Given the description of an element on the screen output the (x, y) to click on. 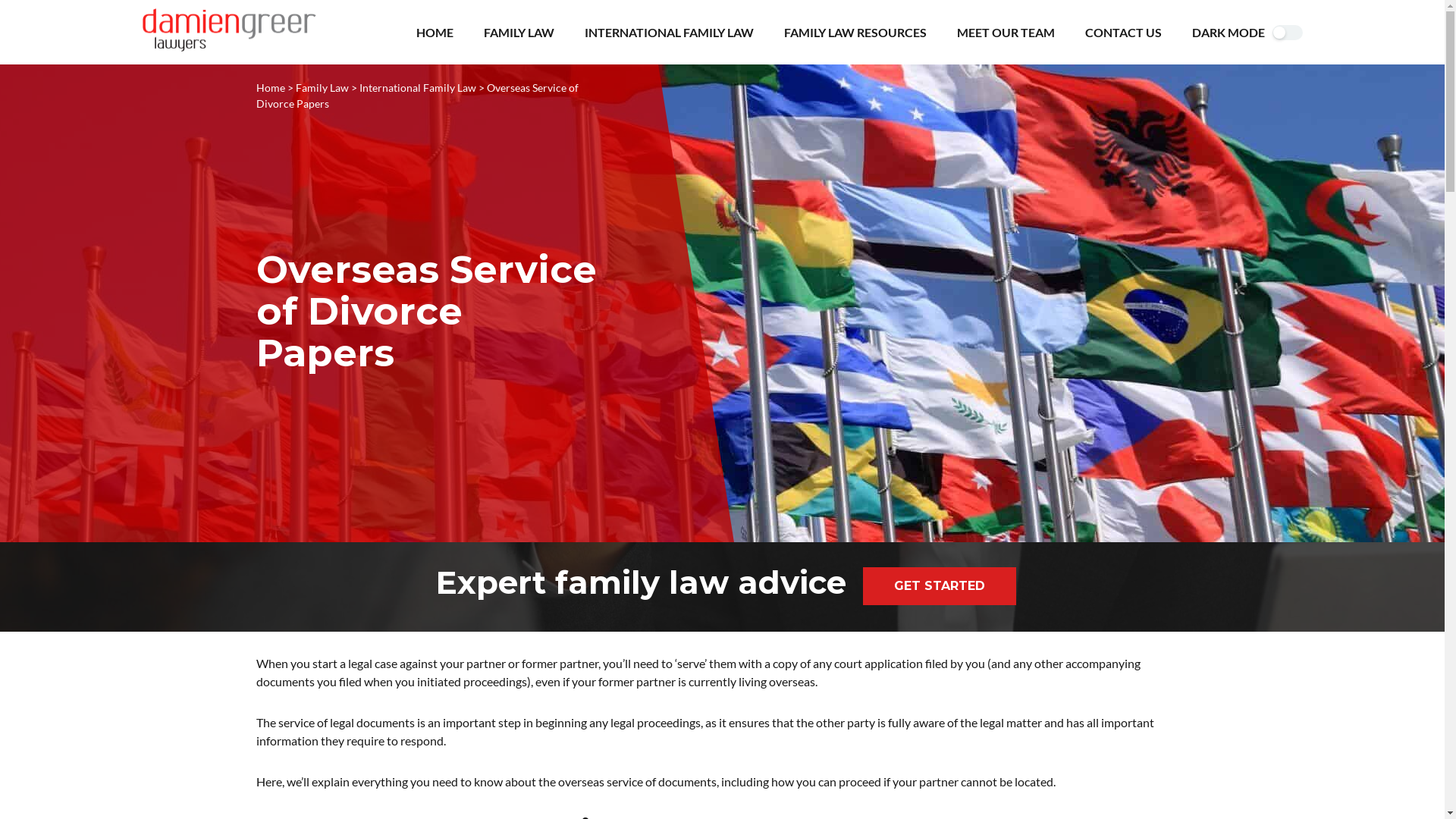
GET STARTED Element type: text (939, 586)
Family Law Element type: text (321, 87)
FAMILY LAW Element type: text (518, 31)
FAMILY LAW RESOURCES Element type: text (855, 31)
International Family Law Element type: text (417, 87)
HOME Element type: text (433, 31)
MEET OUR TEAM Element type: text (1005, 31)
DARK MODE Element type: text (1228, 31)
CONTACT US Element type: text (1122, 31)
INTERNATIONAL FAMILY LAW Element type: text (668, 31)
Home Element type: text (270, 87)
